Given the description of an element on the screen output the (x, y) to click on. 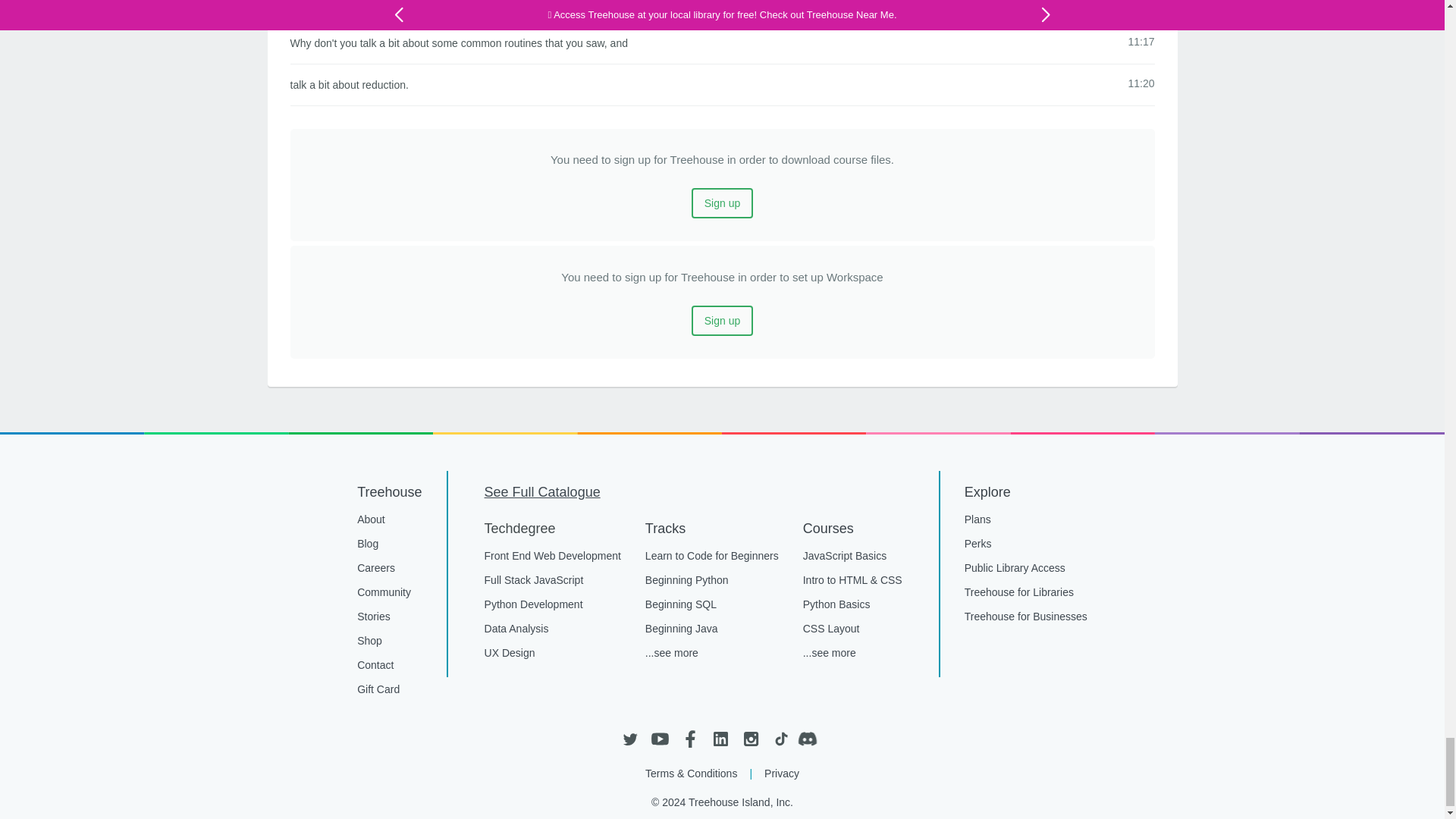
Twitter (628, 738)
TikTok (780, 738)
Twitter (628, 738)
LinkedIn (719, 738)
Facebook (690, 738)
YouTube (659, 738)
YouTube (659, 738)
LinkedIn (719, 738)
Instagram (749, 738)
Instagram (749, 738)
